Given the description of an element on the screen output the (x, y) to click on. 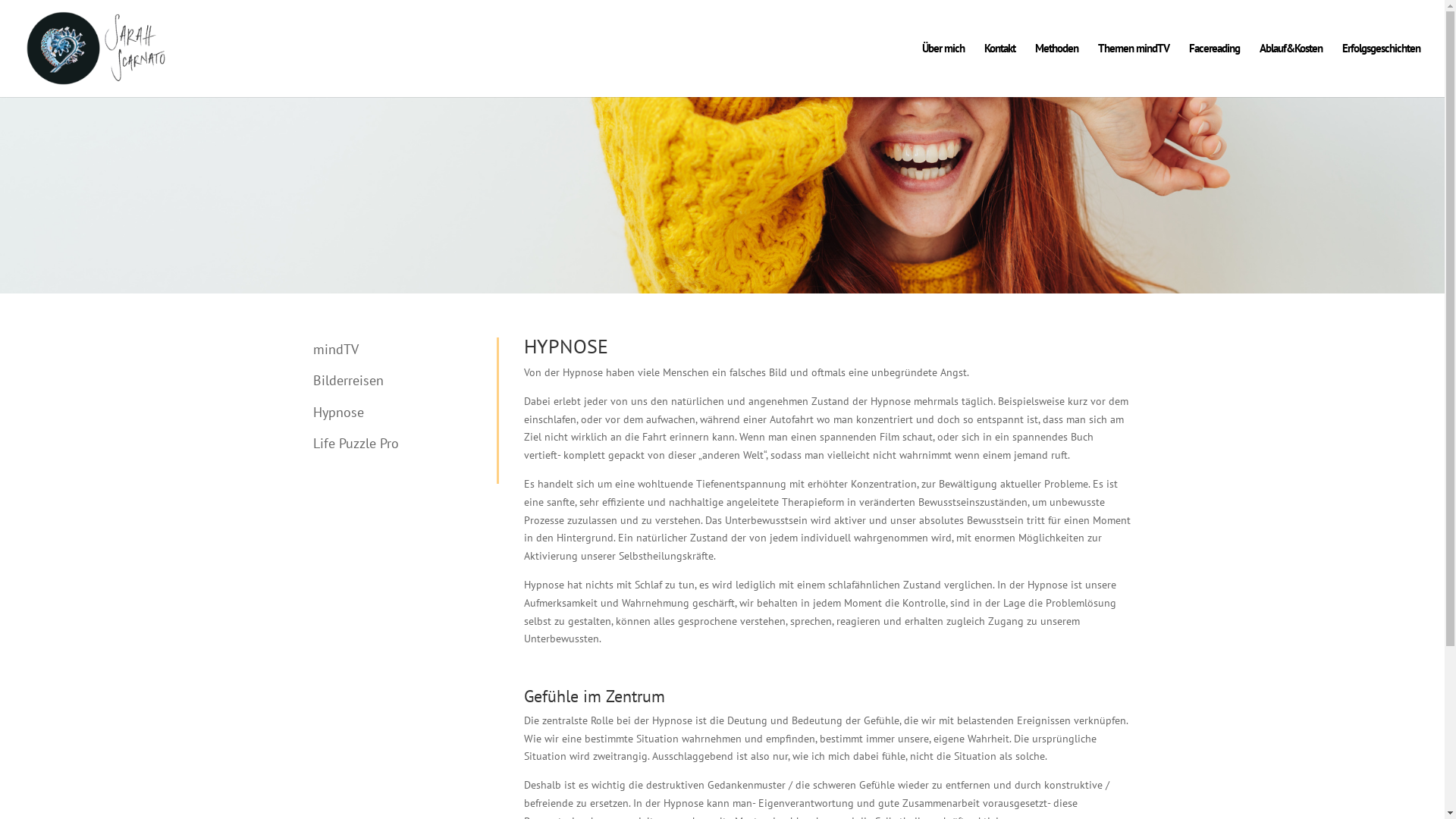
Erfolgsgeschichten Element type: text (1381, 70)
Methoden Element type: text (1056, 70)
Life Puzzle Pro Element type: text (355, 442)
mindTV Element type: text (334, 348)
Bilderreisen Element type: text (347, 380)
Hypnose Element type: text (337, 411)
Facereading Element type: text (1214, 70)
Themen mindTV Element type: text (1133, 70)
Ablauf&Kosten Element type: text (1290, 70)
Kontakt Element type: text (999, 70)
